Given the description of an element on the screen output the (x, y) to click on. 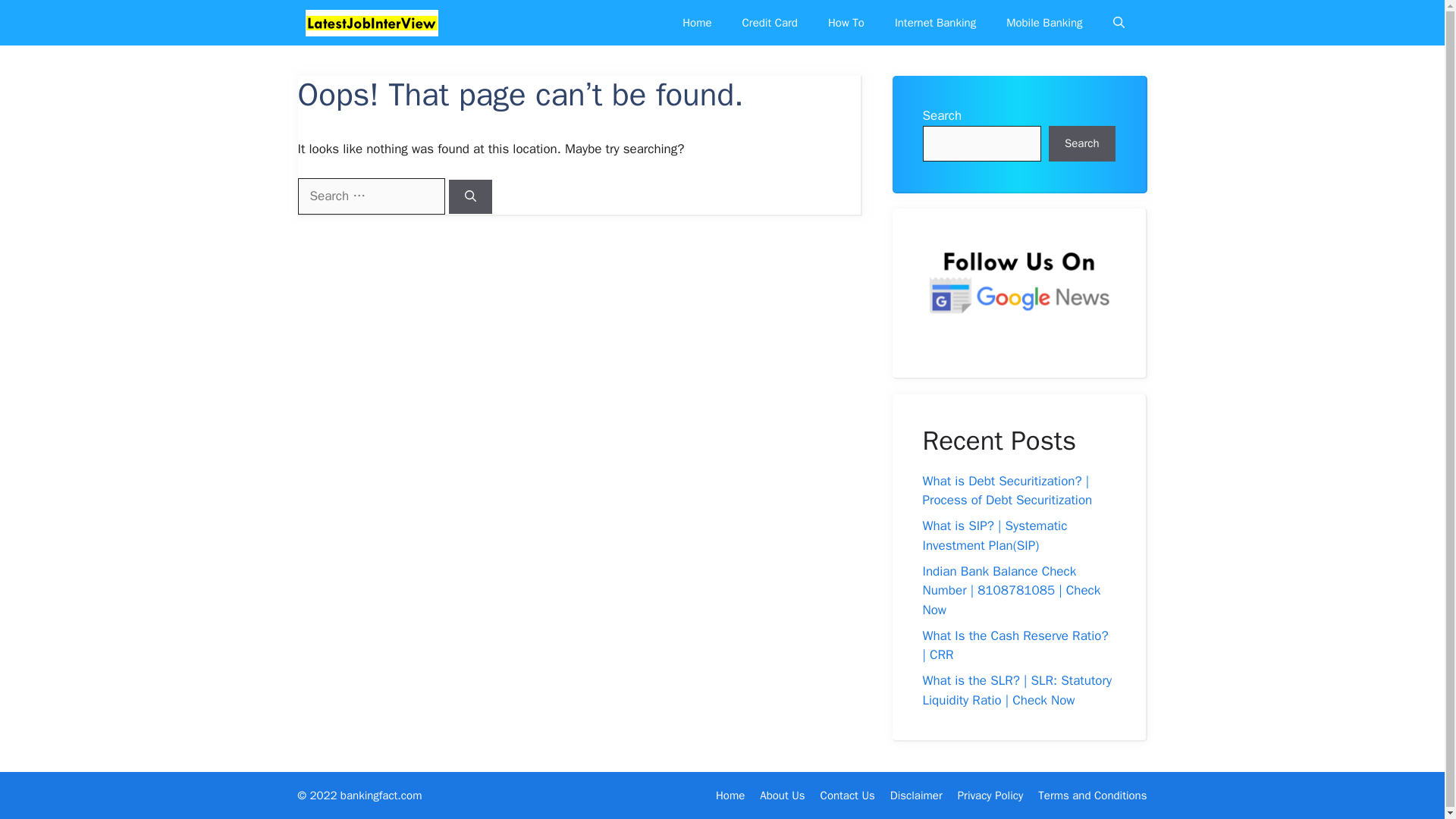
Internet Banking (935, 22)
Terms and Conditions (1092, 795)
Home (730, 795)
Search for: (370, 196)
About Us (782, 795)
Search (1081, 144)
Credit Card (769, 22)
Disclaimer (915, 795)
Home (696, 22)
latestjobinterview.in (371, 22)
How To (845, 22)
Mobile Banking (1044, 22)
Privacy Policy (990, 795)
Contact Us (848, 795)
